Given the description of an element on the screen output the (x, y) to click on. 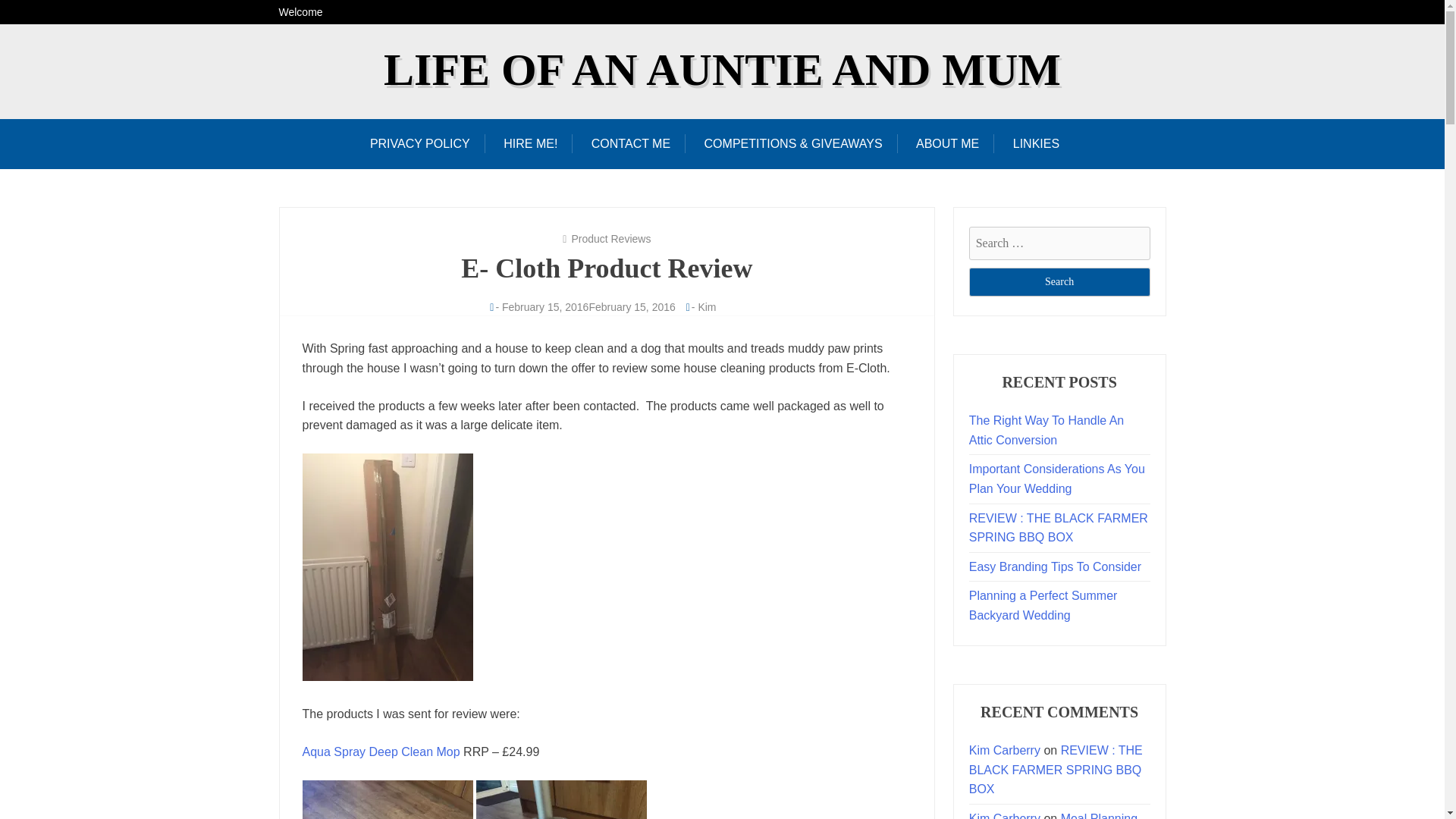
Product Reviews (610, 238)
CONTACT ME (630, 143)
Aqua Spray Deep Clean Mop (382, 751)
Search (1059, 281)
Kim (706, 306)
LIFE OF AN AUNTIE AND MUM (722, 70)
ABOUT ME (947, 143)
Search (1059, 281)
HIRE ME! (529, 143)
LINKIES (1035, 143)
February 15, 2016February 15, 2016 (588, 306)
PRIVACY POLICY (426, 143)
